Given the description of an element on the screen output the (x, y) to click on. 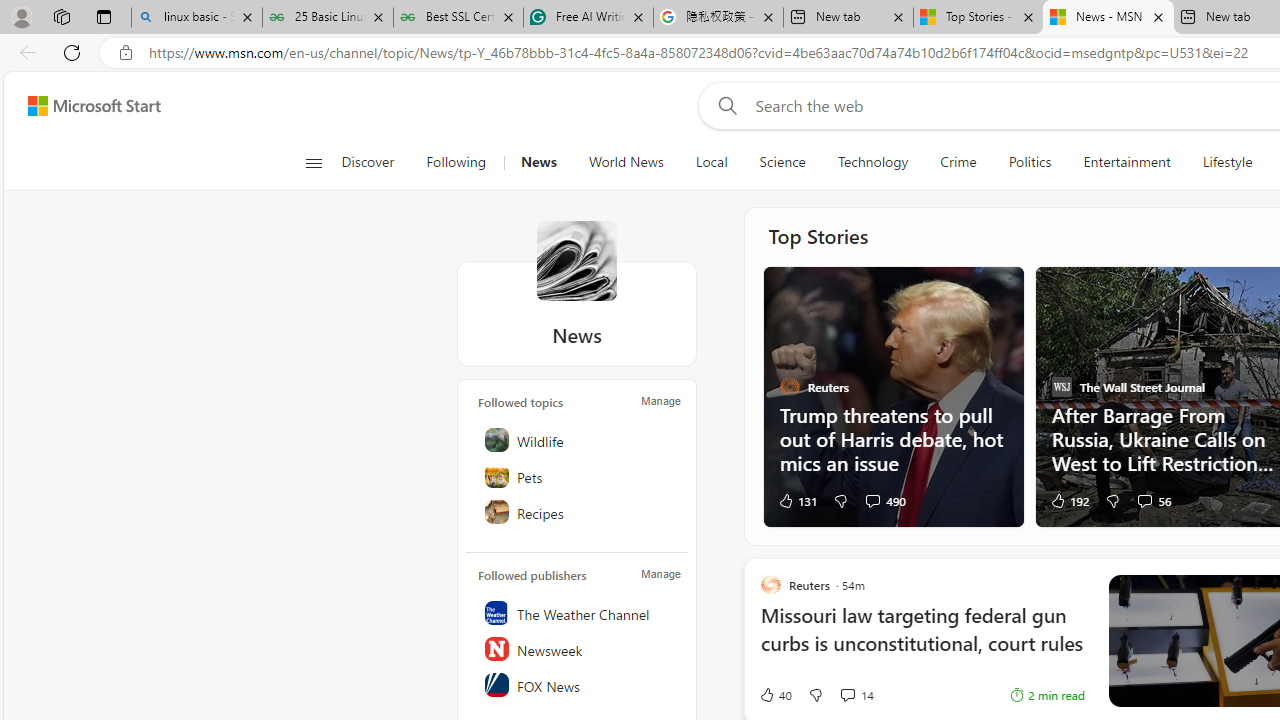
131 Like (797, 500)
